Given the description of an element on the screen output the (x, y) to click on. 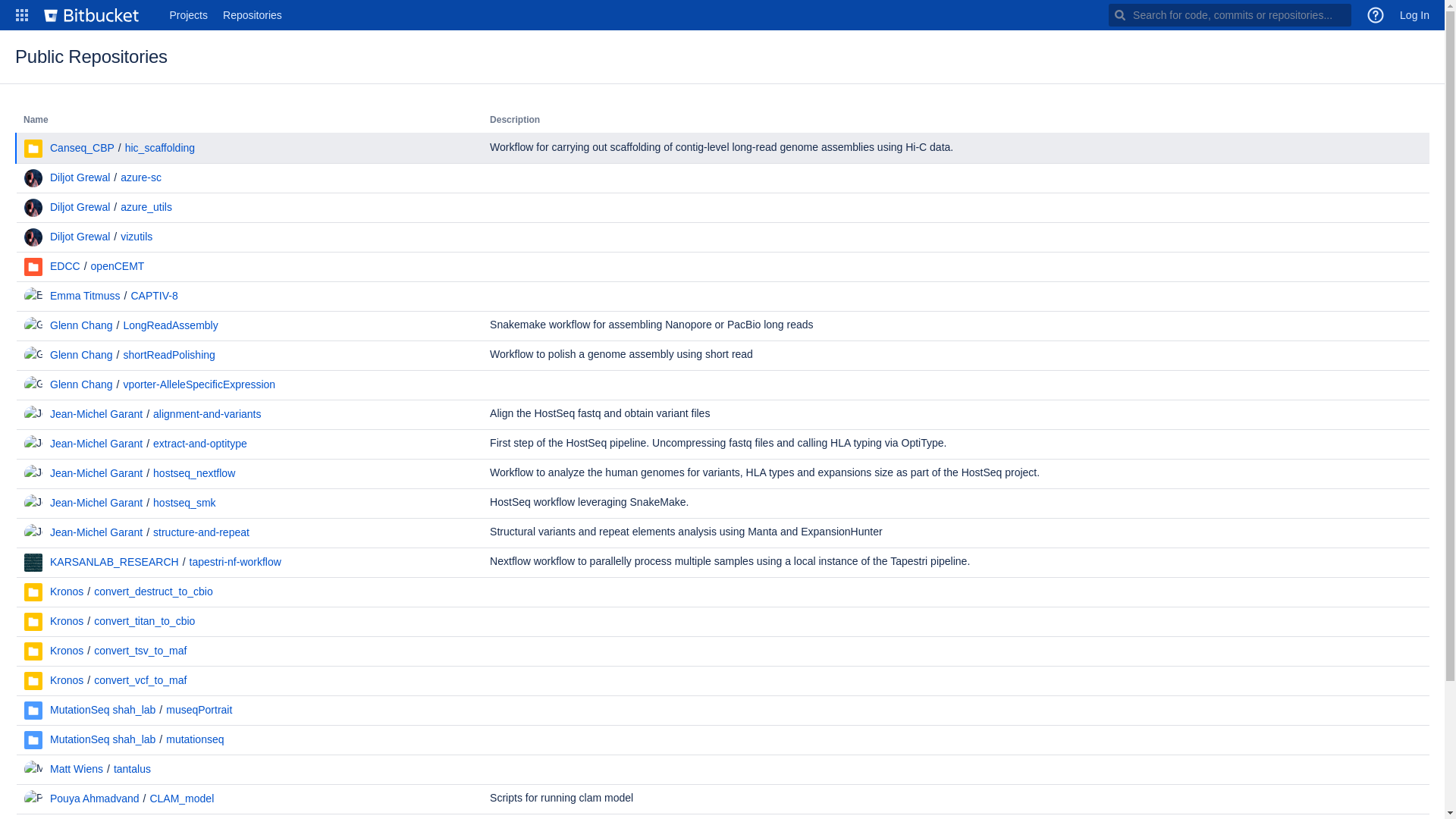
Diljot Grewal Element type: text (79, 236)
Emma Titmuss Element type: text (85, 295)
vizutils Element type: text (136, 236)
tapestri-nf-workflow Element type: text (235, 561)
Pouya Ahmadvand Element type: text (94, 798)
MutationSeq shah_lab Element type: text (102, 709)
convert_tsv_to_maf Element type: text (140, 650)
Diljot Grewal Element type: text (79, 177)
Glenn Chang Element type: text (81, 354)
EDCC Element type: text (65, 266)
Canseq_CBP Element type: text (82, 147)
alignment-and-variants Element type: text (206, 413)
Matt Wiens Element type: text (76, 768)
Jean-Michel Garant Element type: text (96, 532)
openCEMT Element type: text (117, 266)
Repositories Element type: text (252, 15)
Jean-Michel Garant Element type: text (96, 473)
Kronos Element type: text (66, 591)
Projects Element type: text (188, 15)
hic_scaffolding Element type: text (159, 147)
convert_titan_to_cbio Element type: text (144, 621)
Jean-Michel Garant Element type: text (96, 413)
Glenn Chang Element type: text (81, 325)
museqPortrait Element type: text (199, 709)
extract-and-optitype Element type: text (200, 443)
Jean-Michel Garant Element type: text (96, 502)
Kronos Element type: text (66, 650)
hostseq_smk Element type: text (184, 502)
Help Element type: text (1375, 15)
CAPTIV-8 Element type: text (153, 295)
Jean-Michel Garant Element type: text (96, 443)
LongReadAssembly Element type: text (169, 325)
MutationSeq shah_lab Element type: text (102, 739)
vporter-AlleleSpecificExpression Element type: text (198, 384)
Linked Applications Element type: text (21, 15)
Kronos Element type: text (66, 680)
CLAM_model Element type: text (181, 798)
azure_utils Element type: text (146, 206)
mutationseq Element type: text (194, 739)
azure-sc Element type: text (140, 177)
Diljot Grewal Element type: text (79, 206)
convert_destruct_to_cbio Element type: text (153, 591)
Kronos Element type: text (66, 621)
hostseq_nextflow Element type: text (194, 473)
Log In Element type: text (1414, 15)
tantalus Element type: text (131, 768)
KARSANLAB_RESEARCH Element type: text (114, 561)
structure-and-repeat Element type: text (201, 532)
shortReadPolishing Element type: text (168, 354)
Glenn Chang Element type: text (81, 384)
convert_vcf_to_maf Element type: text (140, 680)
